Given the description of an element on the screen output the (x, y) to click on. 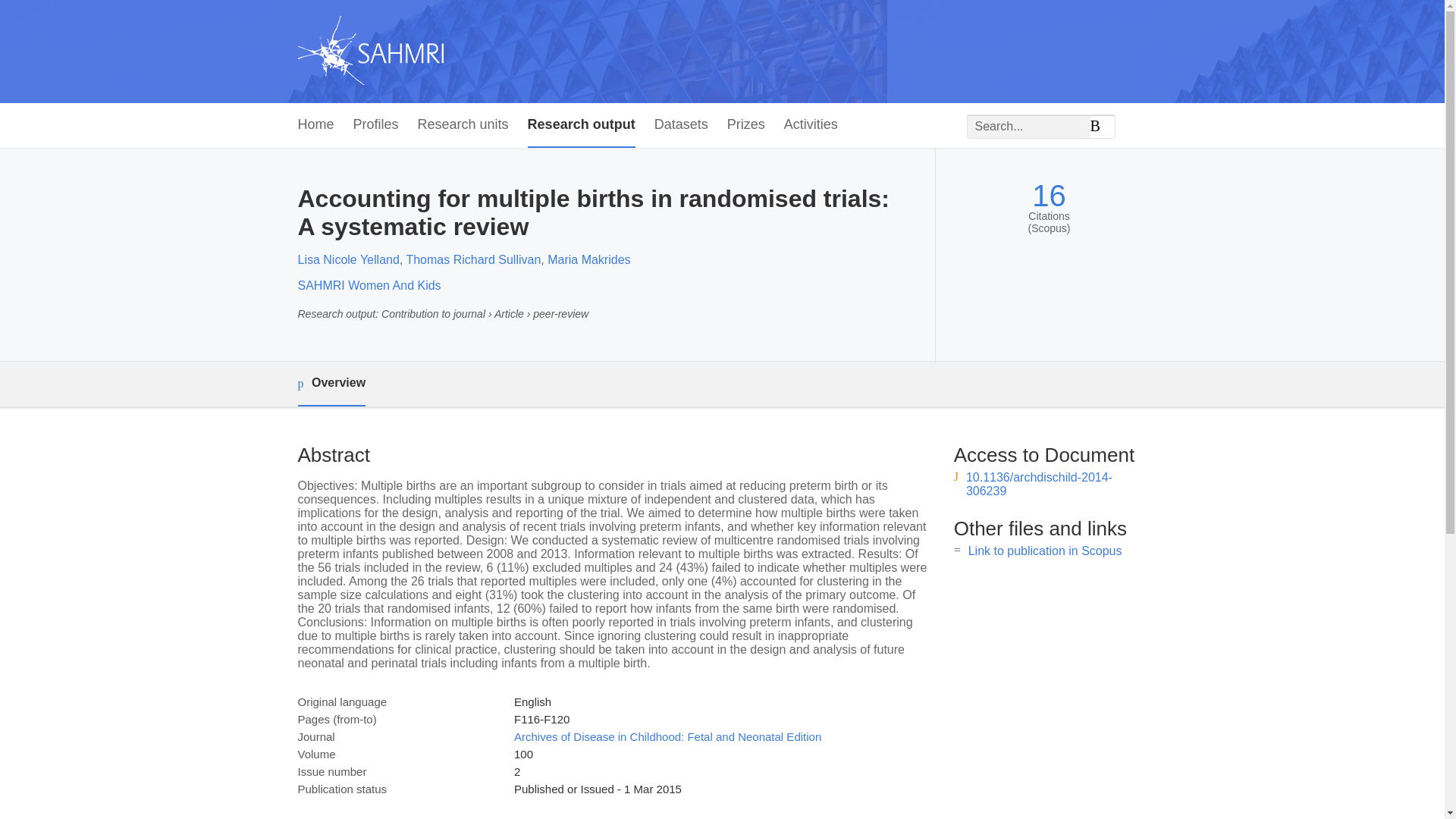
Datasets (680, 125)
Research output (580, 125)
Activities (811, 125)
Profiles (375, 125)
Overview (331, 383)
Thomas Richard Sullivan (473, 259)
Maria Makrides (588, 259)
Link to publication in Scopus (1045, 550)
SAHMRI Home (369, 51)
